Given the description of an element on the screen output the (x, y) to click on. 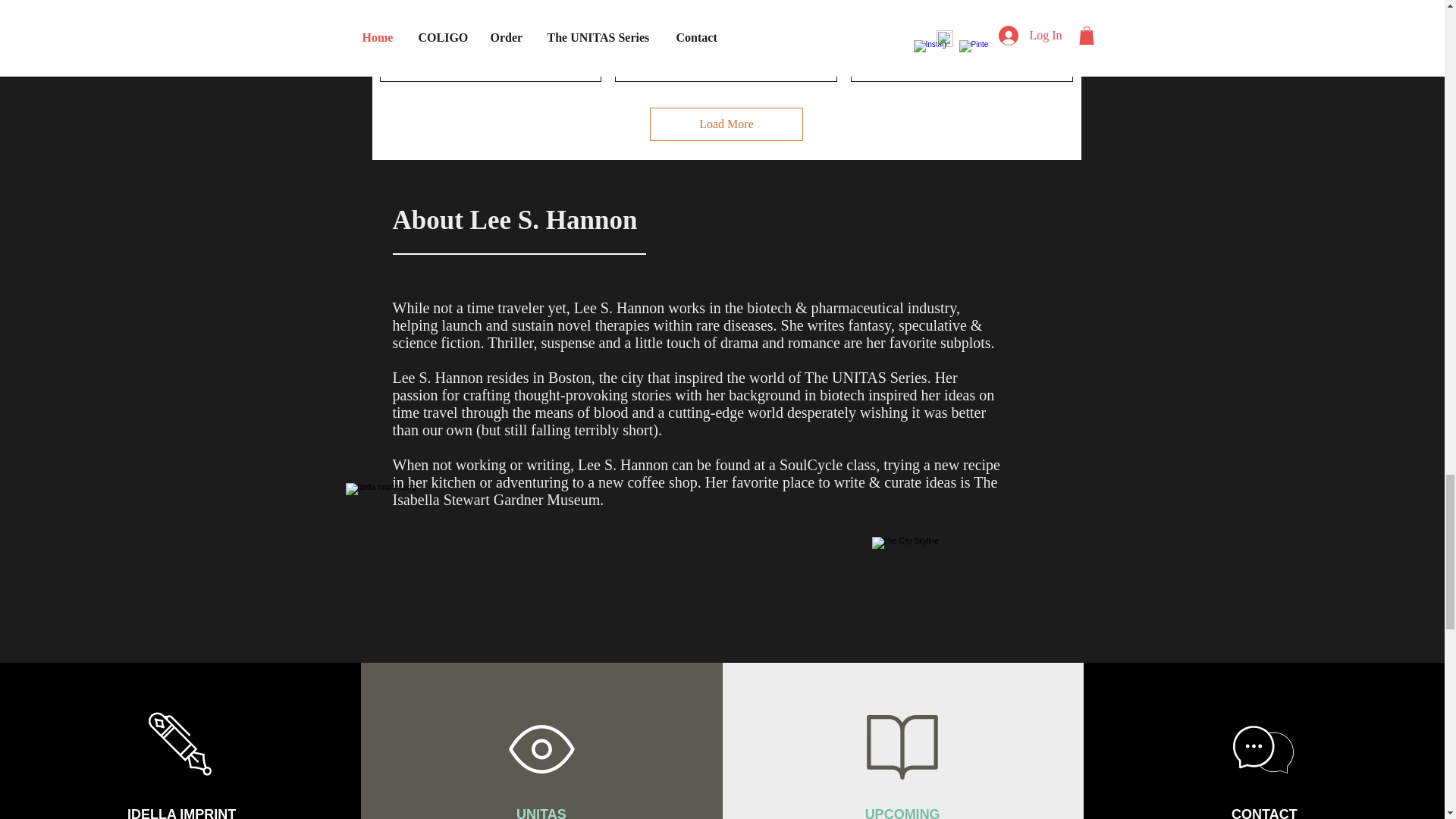
Add to Cart (726, 53)
The City Skyline (968, 582)
1 (725, 14)
Add to Cart (962, 53)
Add to Cart (490, 53)
Load More (726, 123)
1 (489, 14)
1 (961, 14)
